Given the description of an element on the screen output the (x, y) to click on. 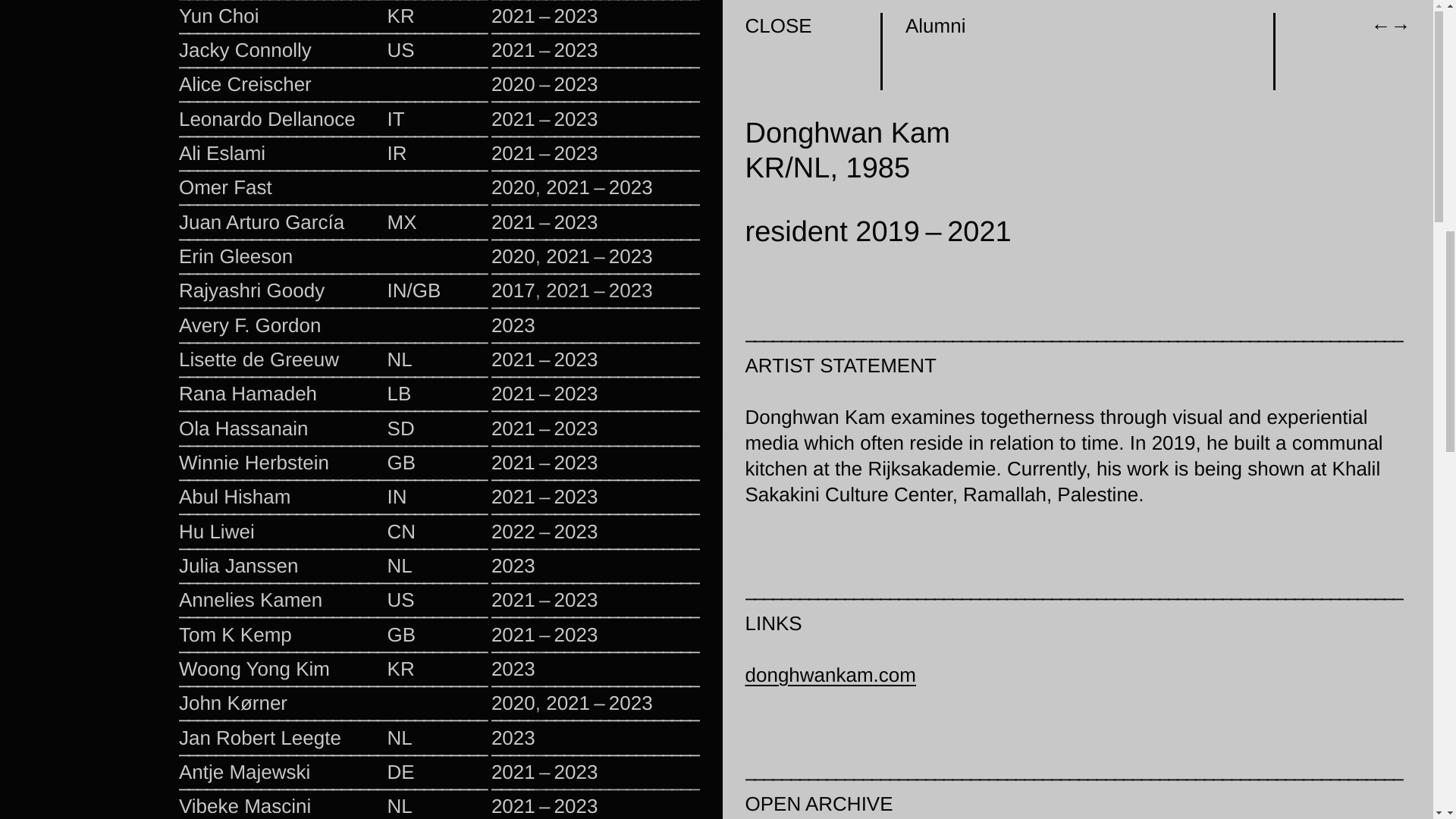
2021 (846, 575)
2021 (1201, 472)
Open Studios (1141, 472)
Image (885, 575)
Work in public space (1255, 727)
Studio presentation (1255, 350)
Donghwan Kam (1310, 472)
Presentation in the hall way (899, 402)
Dongwhan's kitchen (899, 727)
Image (1240, 472)
